Given the description of an element on the screen output the (x, y) to click on. 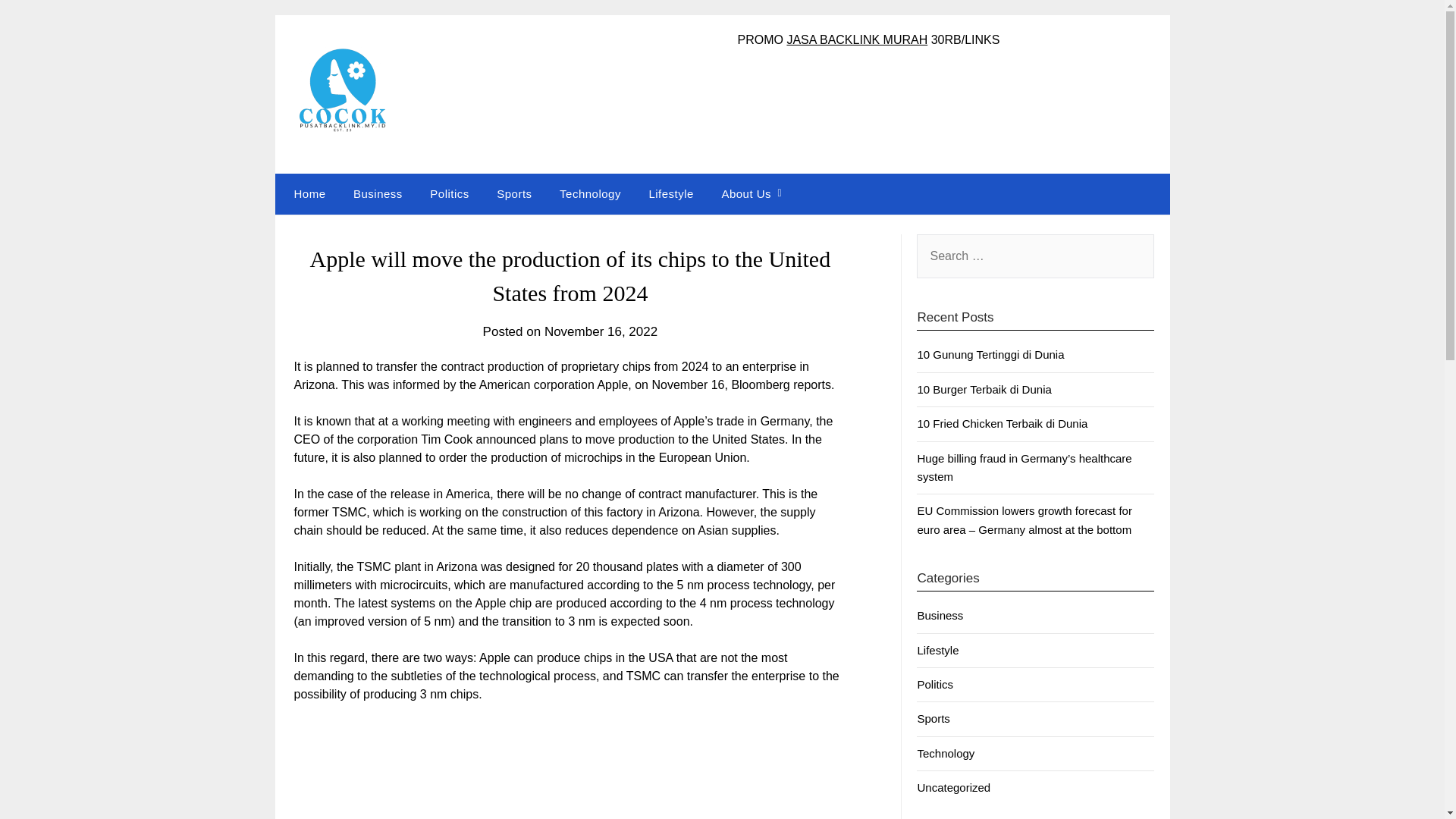
About Us (746, 193)
10 Fried Chicken Terbaik di Dunia (1002, 422)
Technology (945, 753)
Business (939, 615)
Search (38, 22)
10 Gunung Tertinggi di Dunia (990, 354)
Technology (590, 193)
Uncategorized (953, 787)
Business (377, 193)
JASA BACKLINK MURAH (856, 39)
Home (306, 193)
Sports (933, 717)
Lifestyle (671, 193)
Politics (935, 684)
Politics (449, 193)
